Given the description of an element on the screen output the (x, y) to click on. 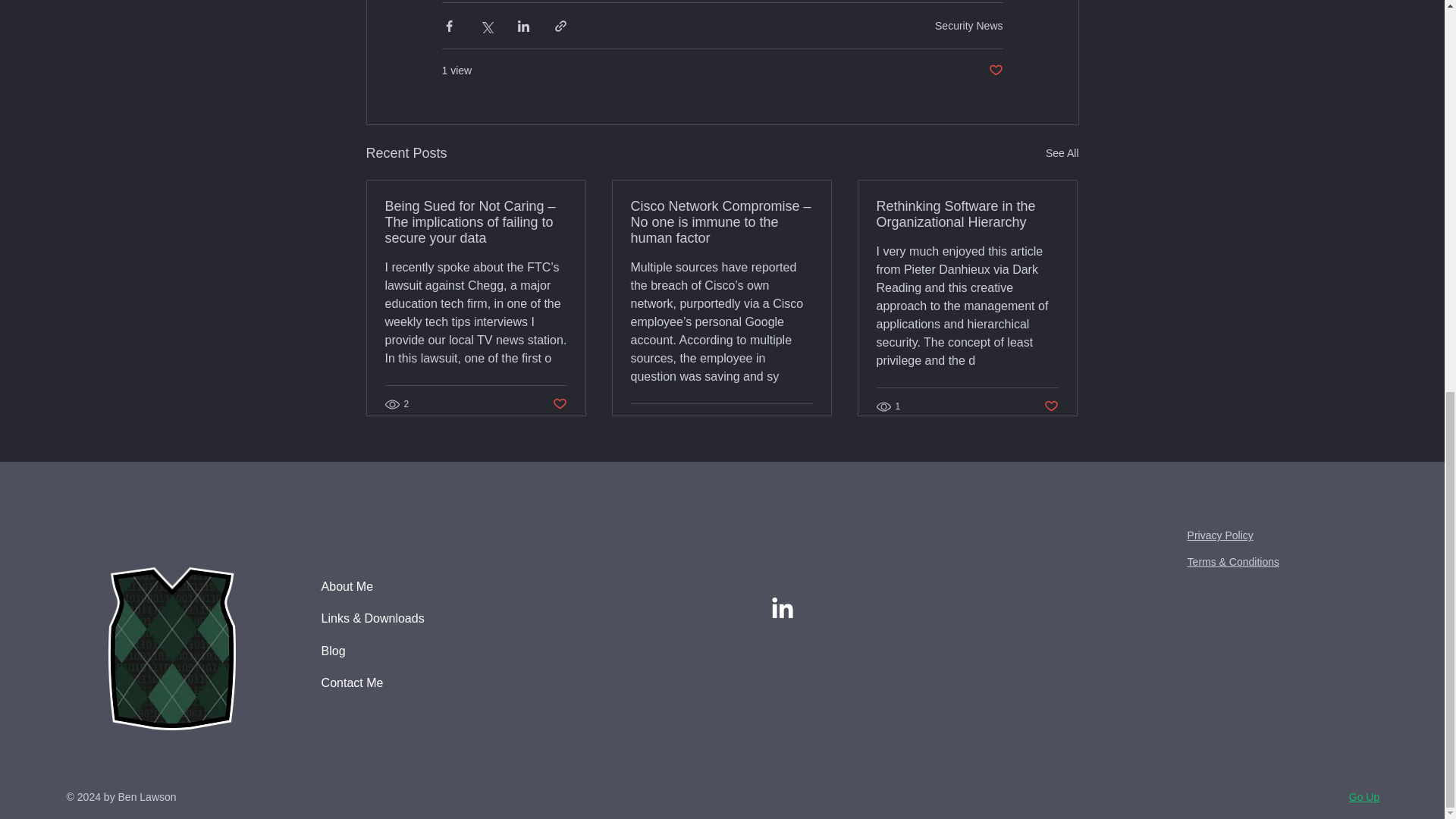
Privacy Policy (1220, 535)
Post not marked as liked (1050, 406)
Post not marked as liked (995, 70)
Contact Me (396, 683)
Rethinking Software in the Organizational Hierarchy (967, 214)
About Me (396, 586)
Security News (968, 25)
See All (1061, 153)
Post not marked as liked (558, 404)
Go Up (1363, 797)
